Given the description of an element on the screen output the (x, y) to click on. 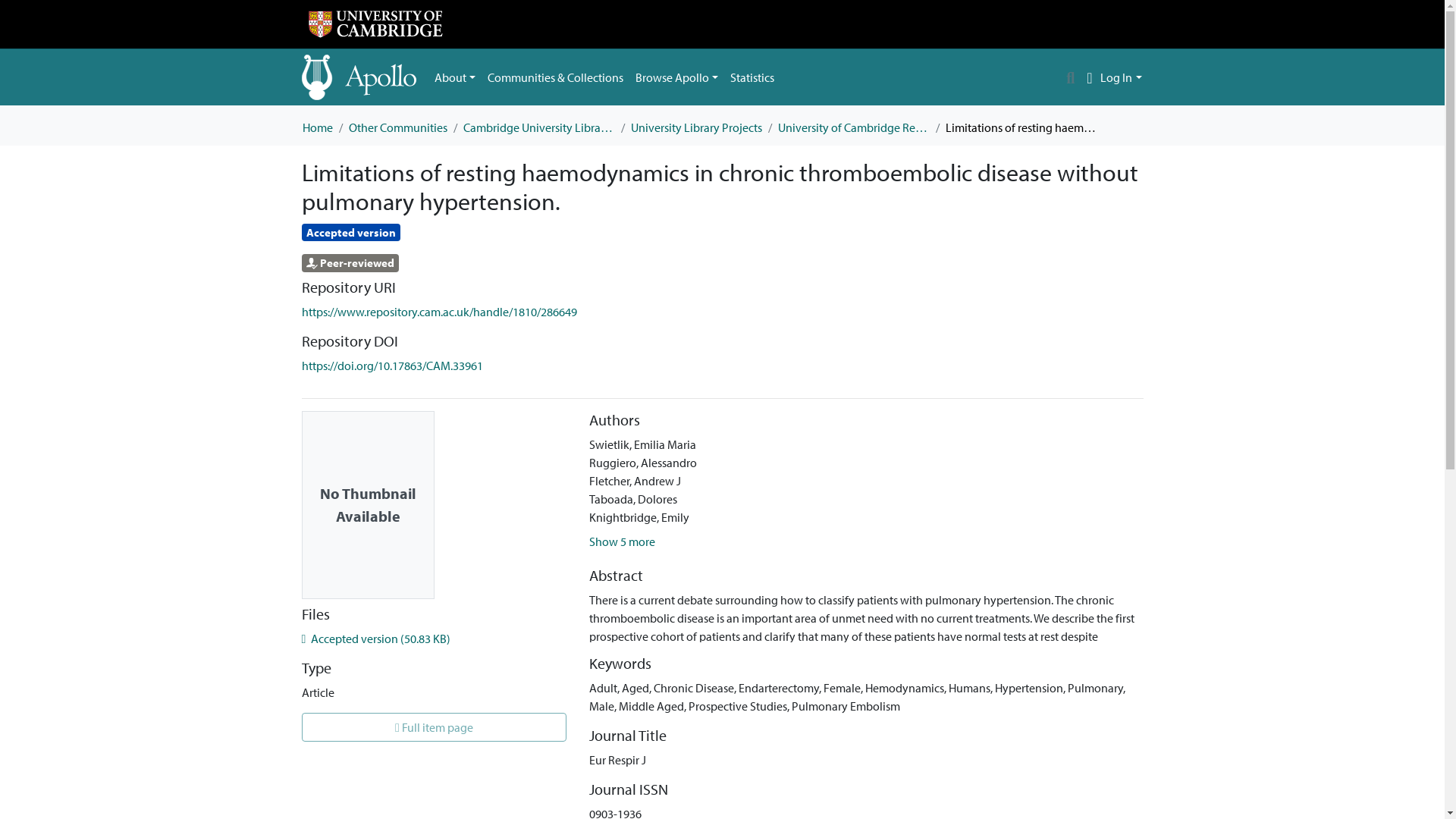
Search (1070, 76)
Full item page (434, 727)
Statistics (751, 77)
Show 5 more (622, 540)
Home (316, 126)
Other Communities (397, 126)
Browse Apollo (675, 77)
Statistics (751, 77)
Log In (1120, 77)
Language switch (1089, 76)
